Given the description of an element on the screen output the (x, y) to click on. 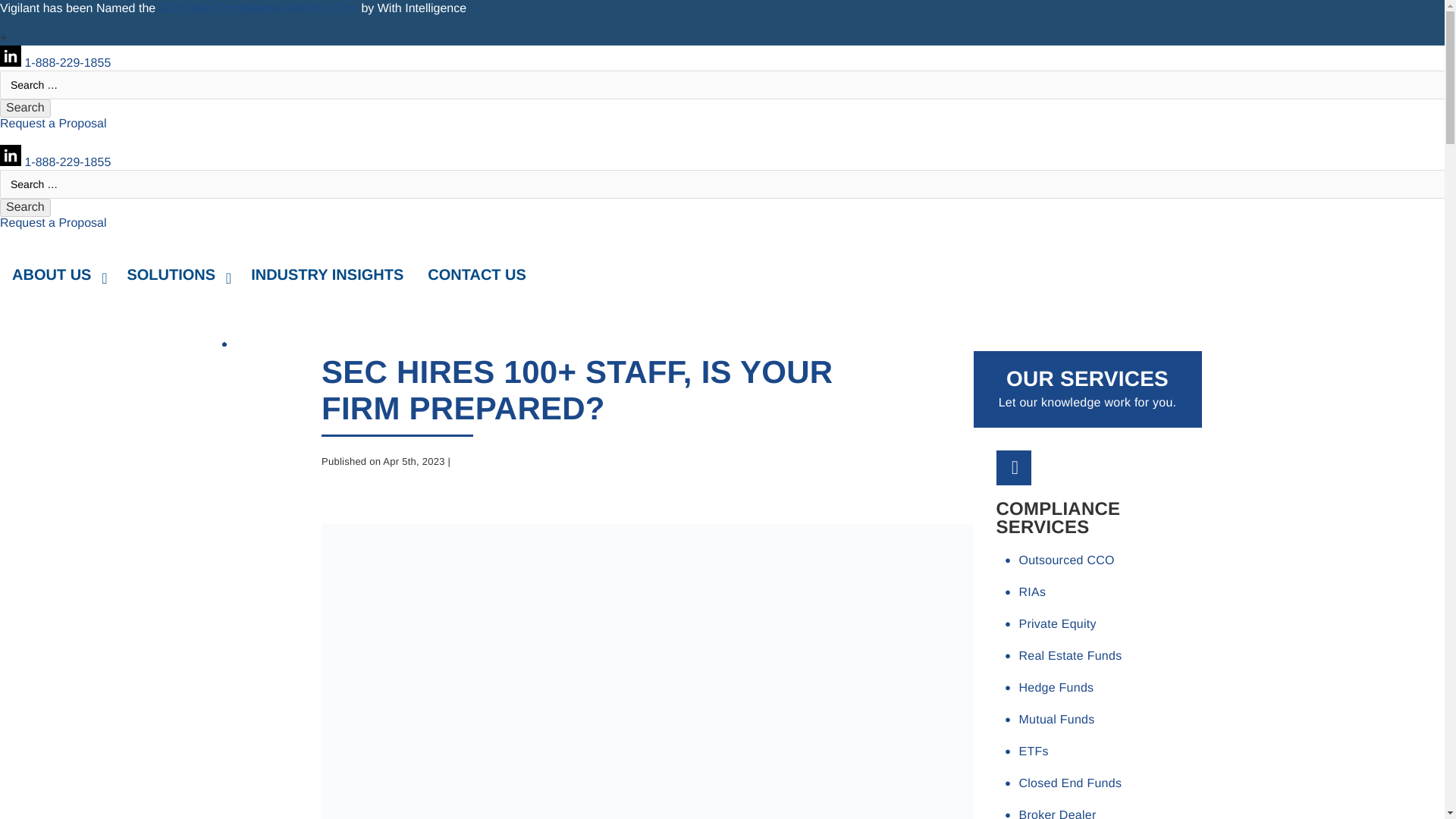
Search (25, 108)
2024 Best Compliance Advisory Firm (258, 8)
Request a Proposal (53, 123)
Search (25, 108)
Request a Proposal (53, 223)
Search (25, 208)
SOLUTIONS (176, 275)
1-888-229-1855 (67, 162)
Search (722, 275)
1-888-229-1855 (25, 108)
Search (67, 62)
Search (25, 208)
ABOUT US (25, 208)
